Given the description of an element on the screen output the (x, y) to click on. 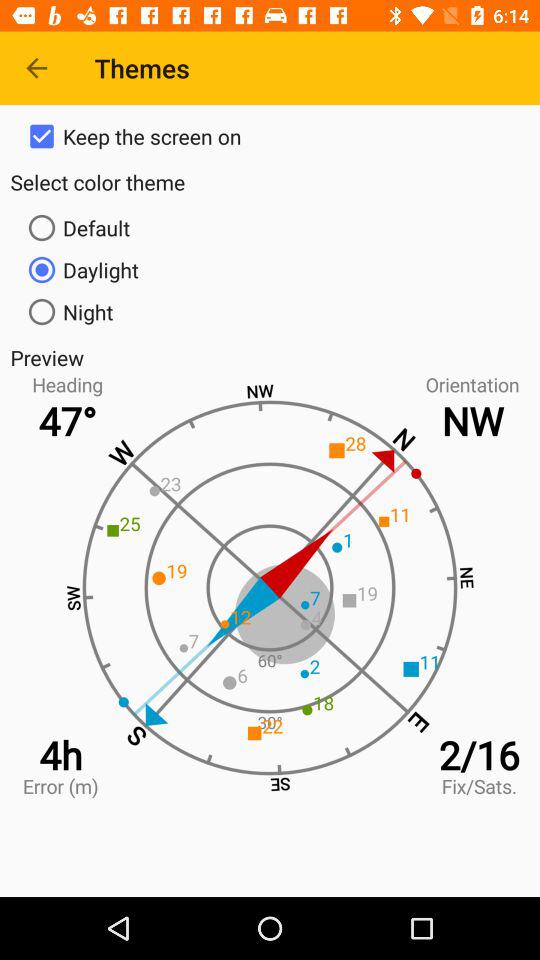
turn on daylight item (270, 269)
